Given the description of an element on the screen output the (x, y) to click on. 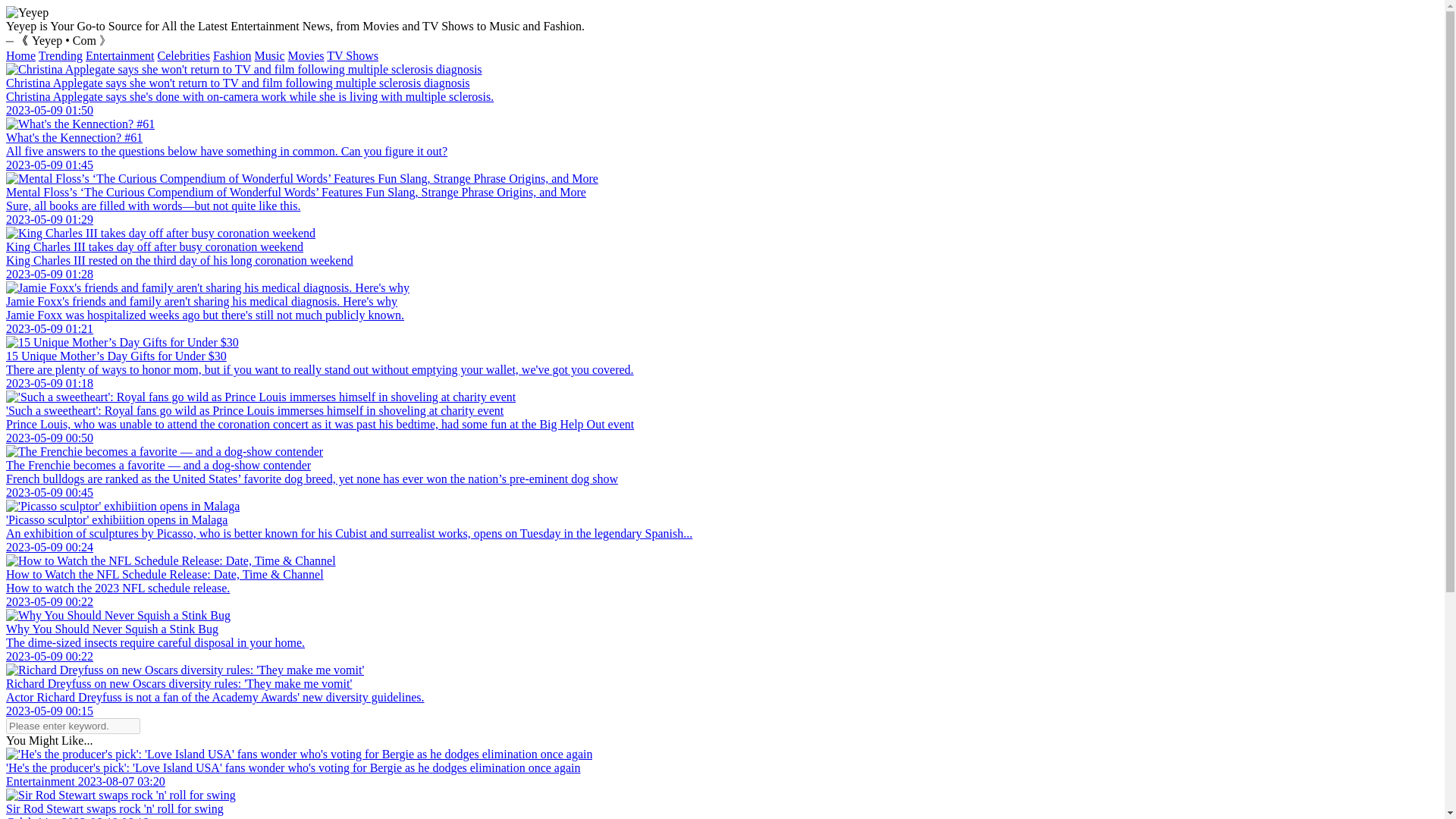
Home (19, 55)
Entertainment (119, 55)
Fashion (231, 55)
TV Shows (352, 55)
Music (269, 55)
Trending (60, 55)
Celebrities (183, 55)
Movies (306, 55)
